Given the description of an element on the screen output the (x, y) to click on. 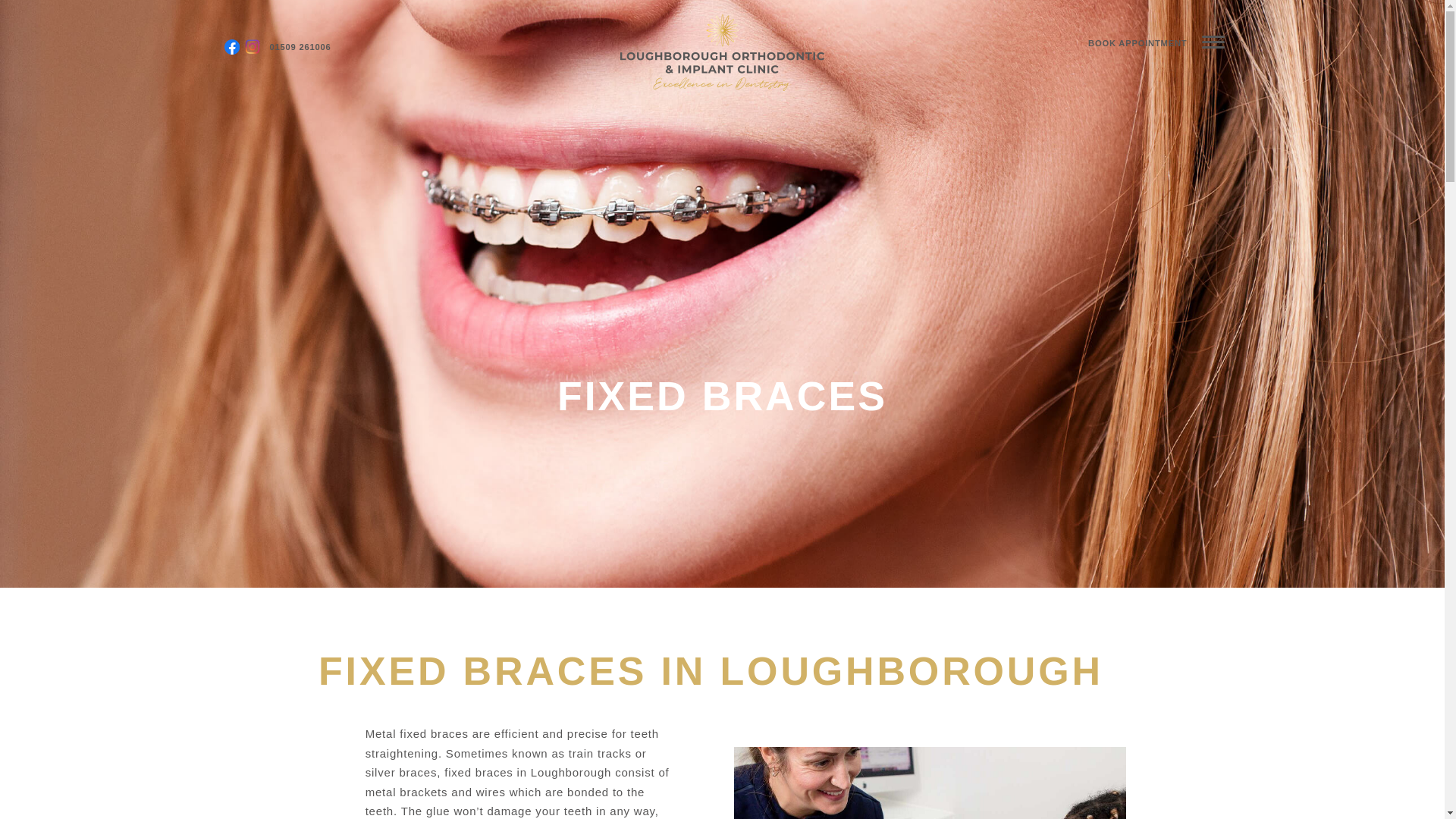
BOOK APPOINTMENT (1140, 44)
01509 261006 (299, 45)
